Given the description of an element on the screen output the (x, y) to click on. 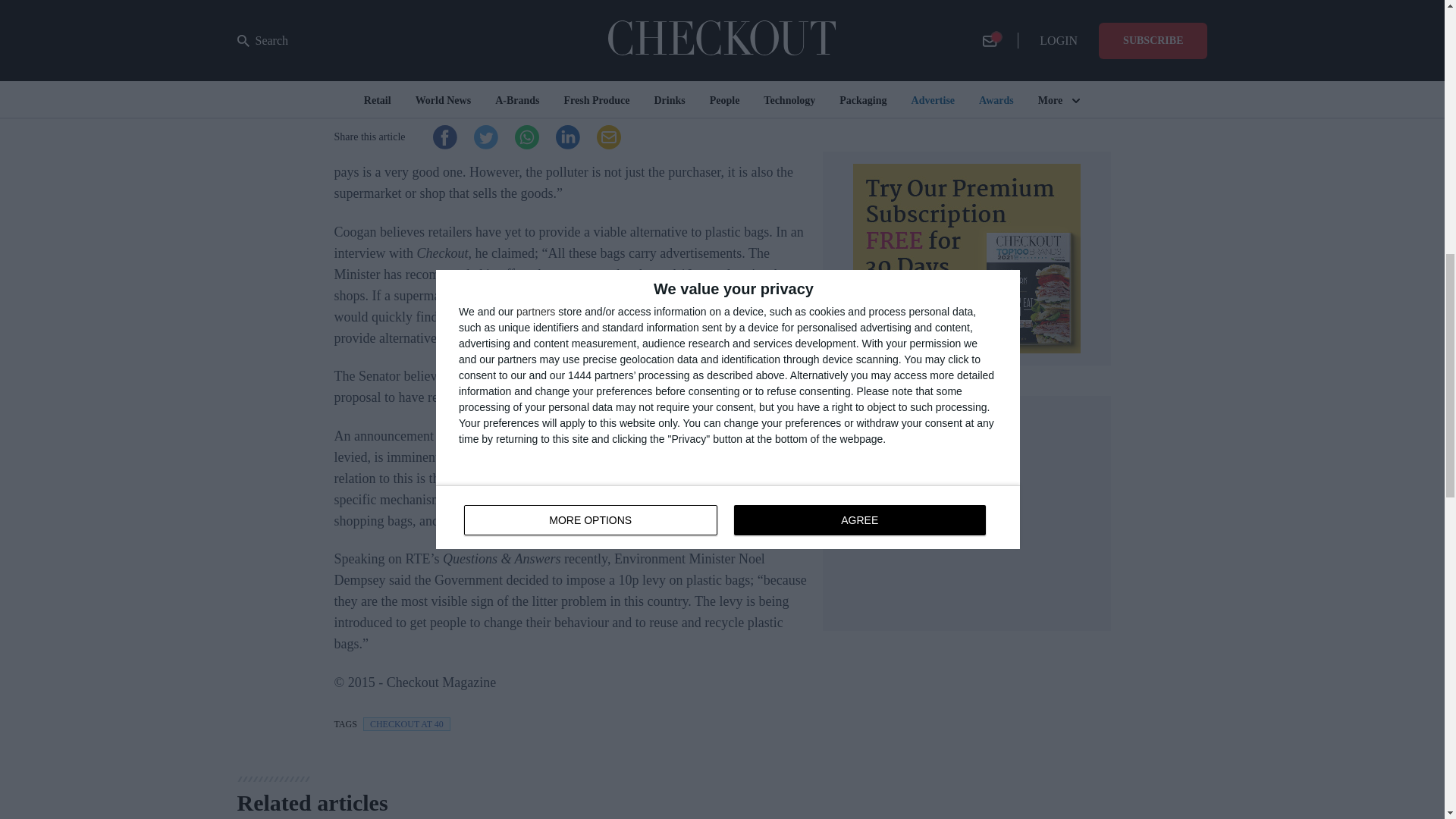
Greencore Upgrades Full-Year Guidance On Strong Performance (917, 5)
